Given the description of an element on the screen output the (x, y) to click on. 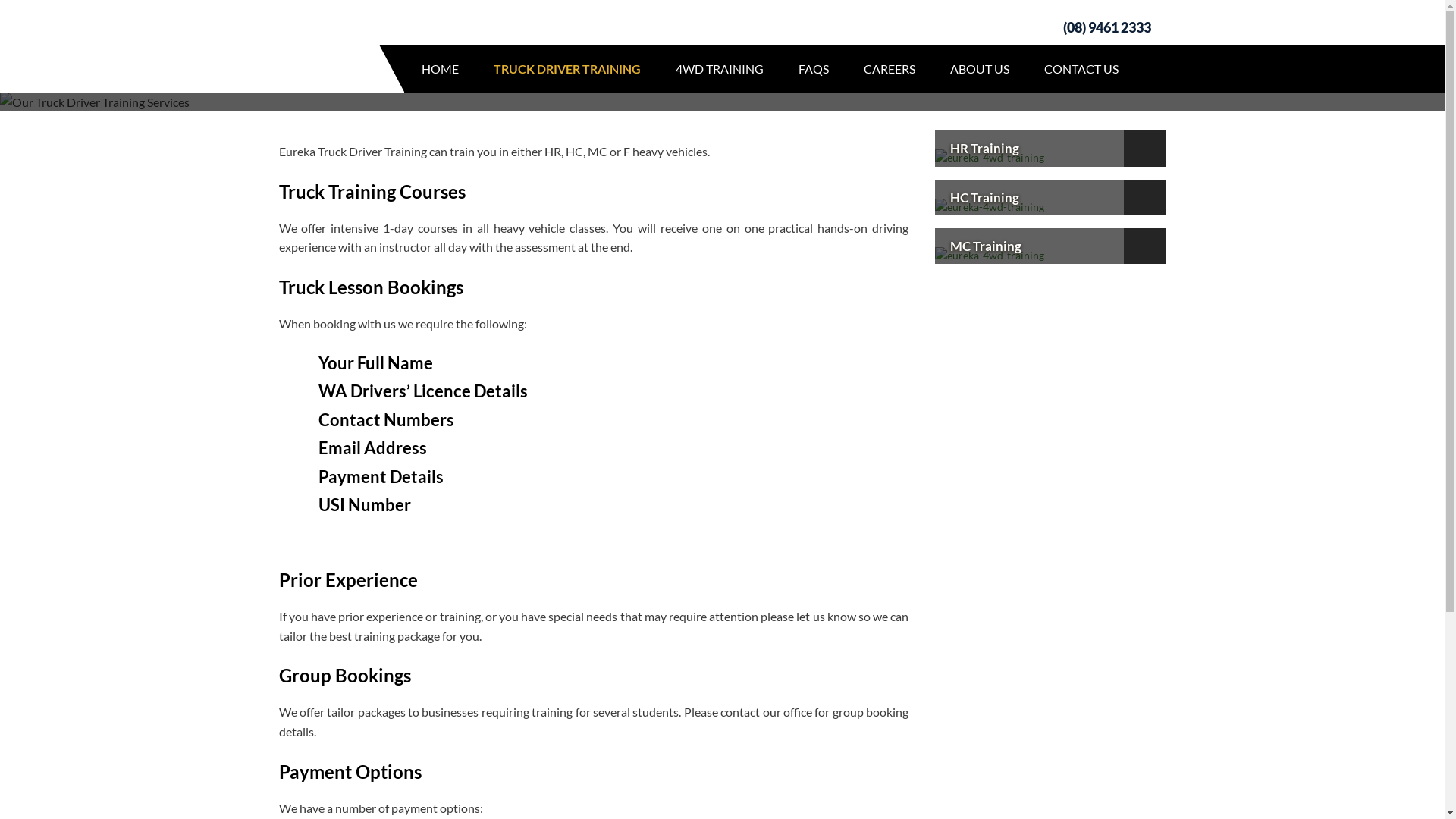
HR Training Element type: text (989, 156)
CONTACT US Element type: text (1080, 68)
4WD TRAINING Element type: text (719, 68)
(08) 9461 2333 Element type: text (1089, 27)
FAQS Element type: text (813, 68)
MC Training Element type: text (989, 254)
HOME Element type: text (440, 68)
HC Training Element type: text (989, 206)
TRUCK DRIVER TRAINING Element type: text (567, 68)
ABOUT US Element type: text (979, 68)
CAREERS Element type: text (889, 68)
